Given the description of an element on the screen output the (x, y) to click on. 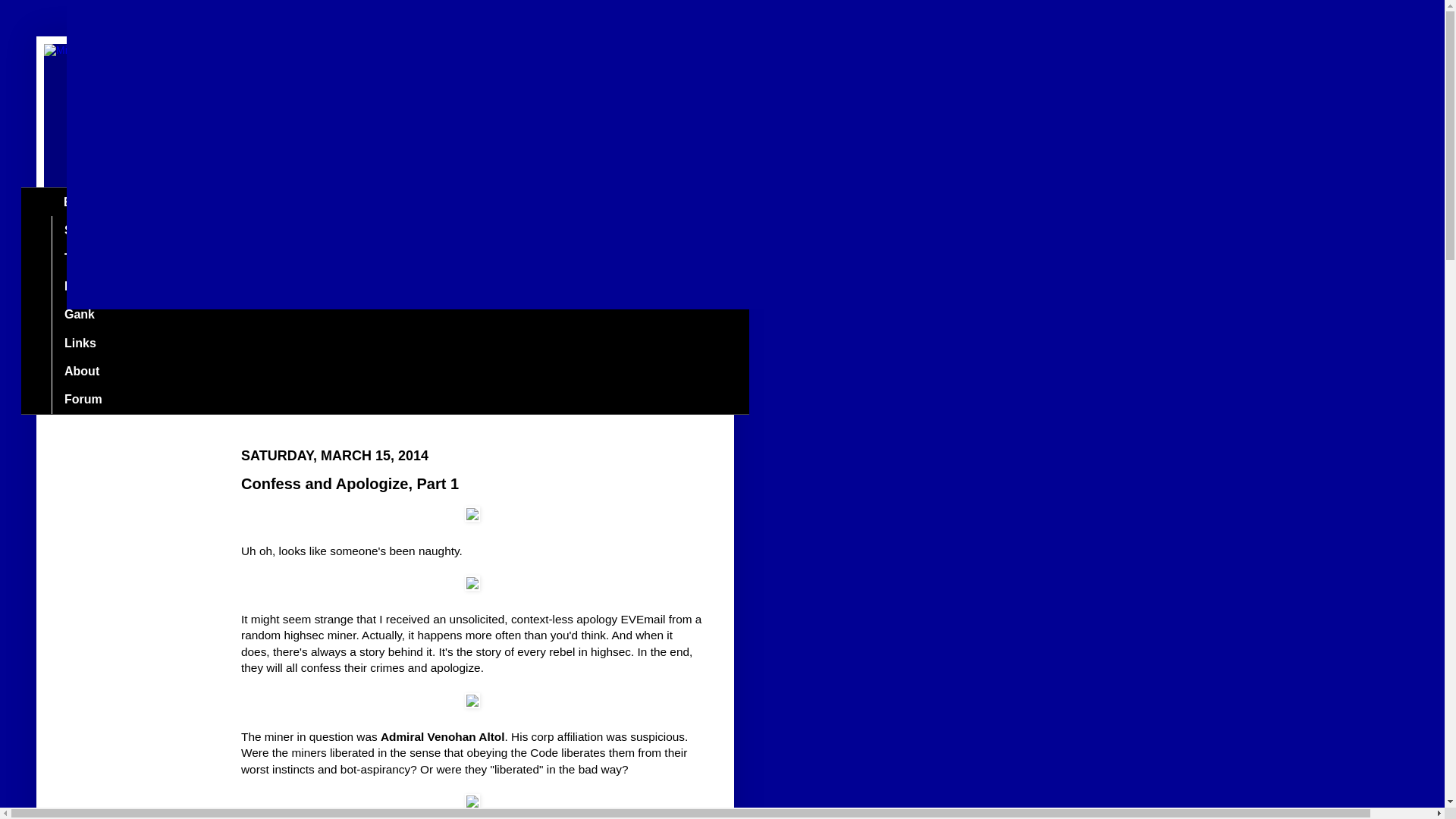
Shareholders (102, 230)
About (81, 370)
Forum (82, 398)
BLOG (80, 202)
Links (78, 343)
Gank (78, 315)
The Code (91, 257)
Become an Agent (114, 286)
